Given the description of an element on the screen output the (x, y) to click on. 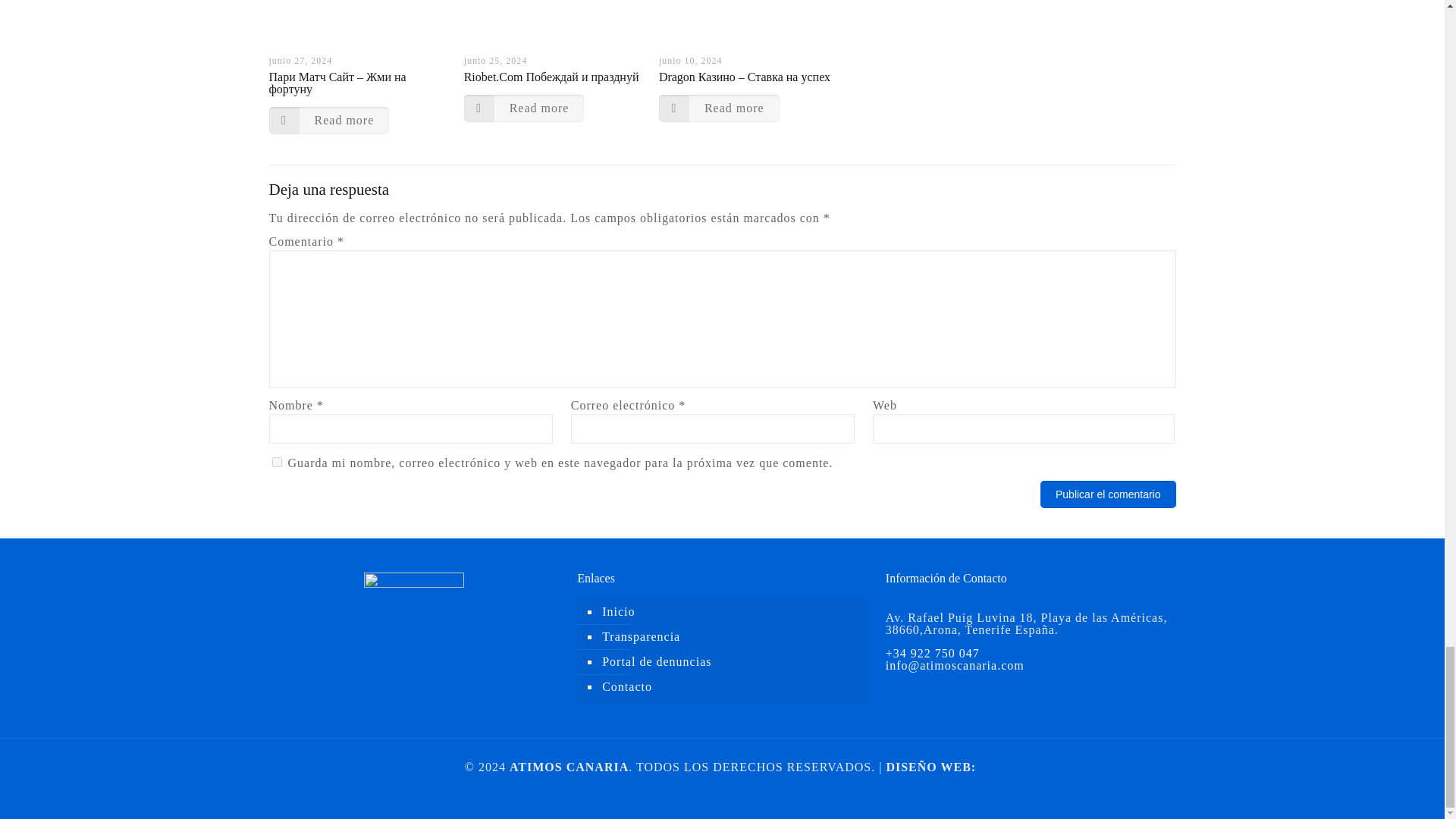
Read more (524, 108)
Transparencia (729, 637)
Contacto (729, 687)
Inicio (729, 611)
yes (275, 461)
Portal de denuncias (729, 662)
Read more (718, 108)
Publicar el comentario (1108, 493)
Publicar el comentario (1108, 493)
Read more (327, 120)
